Given the description of an element on the screen output the (x, y) to click on. 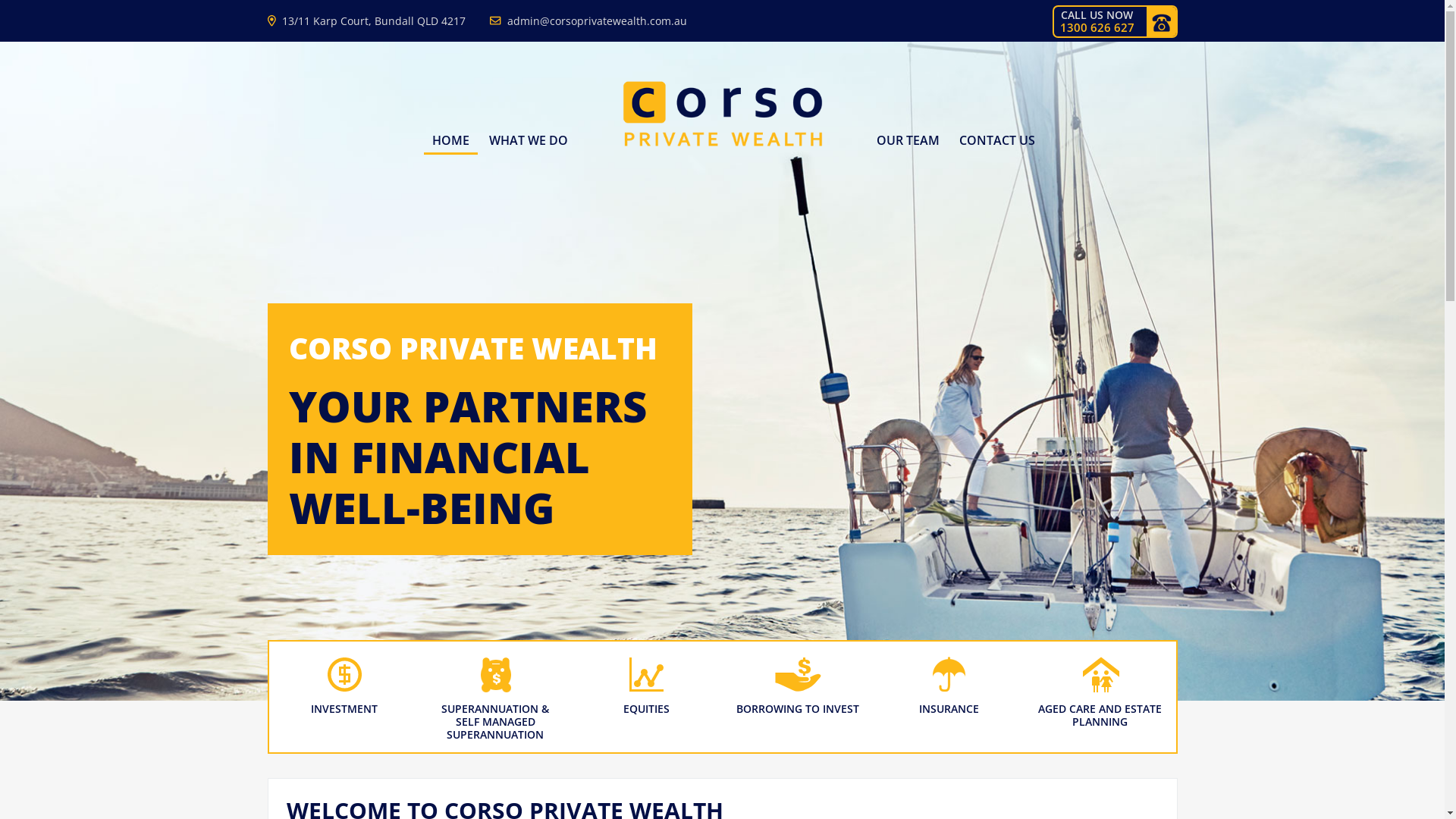
CONTACT US Element type: text (996, 139)
SUPERANNUATION & SELF MANAGED SUPERANNUATION Element type: text (495, 696)
WHAT WE DO Element type: text (528, 139)
Corso Private Wealth Element type: hover (722, 144)
EQUITIES Element type: text (646, 696)
INSURANCE Element type: text (948, 696)
BORROWING TO INVEST Element type: text (796, 696)
AGED CARE AND ESTATE PLANNING Element type: text (1099, 696)
HOME Element type: text (450, 140)
CALL US NOW
1300 626 627 Element type: text (1114, 21)
13/11 Karp Court, Bundall QLD 4217 Element type: text (365, 20)
admin@corsoprivatewealth.com.au Element type: text (588, 20)
OUR TEAM Element type: text (907, 139)
Skip to primary navigation Element type: text (0, 0)
INVESTMENT Element type: text (343, 696)
